Given the description of an element on the screen output the (x, y) to click on. 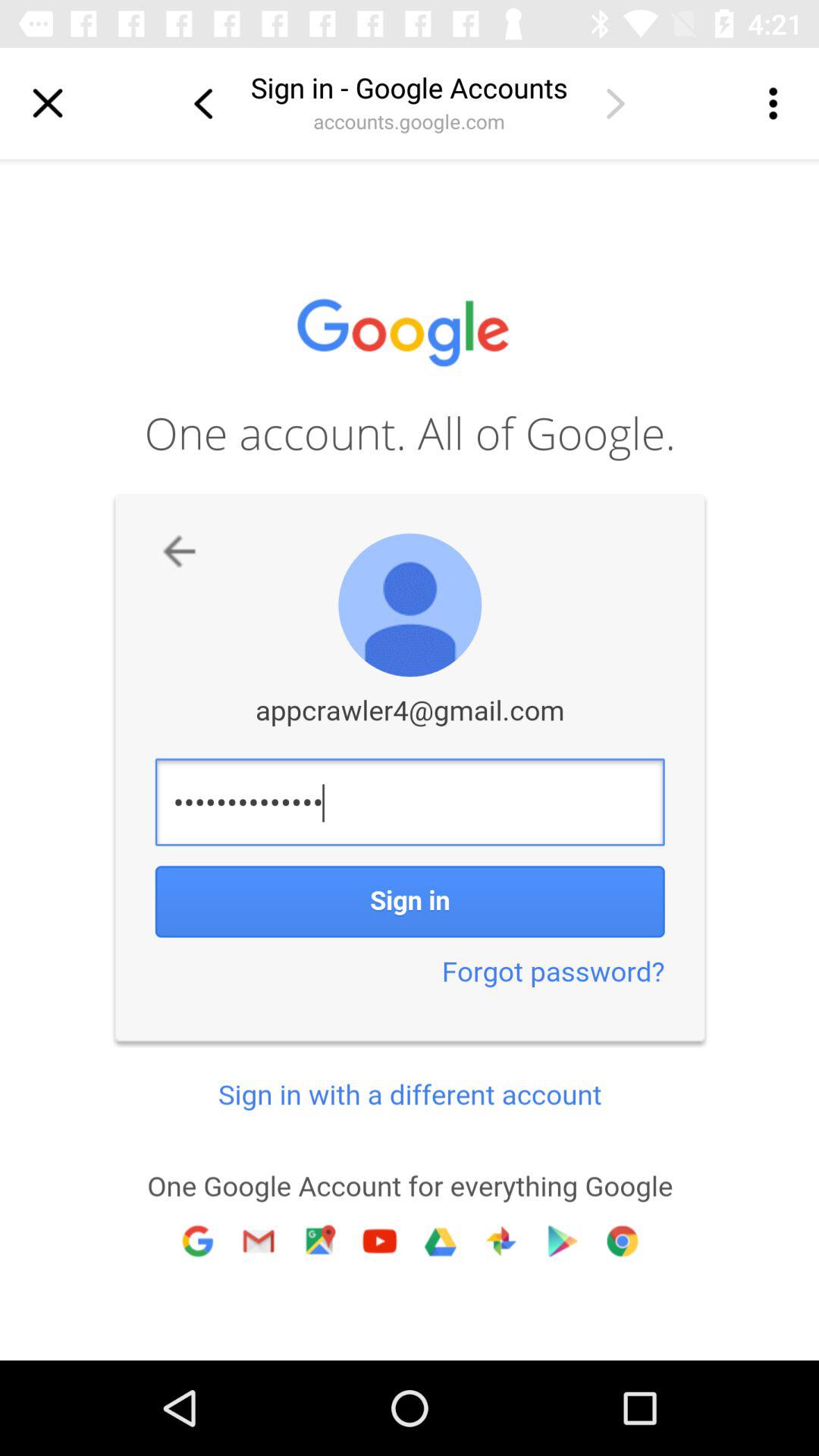
close current window (47, 103)
